Given the description of an element on the screen output the (x, y) to click on. 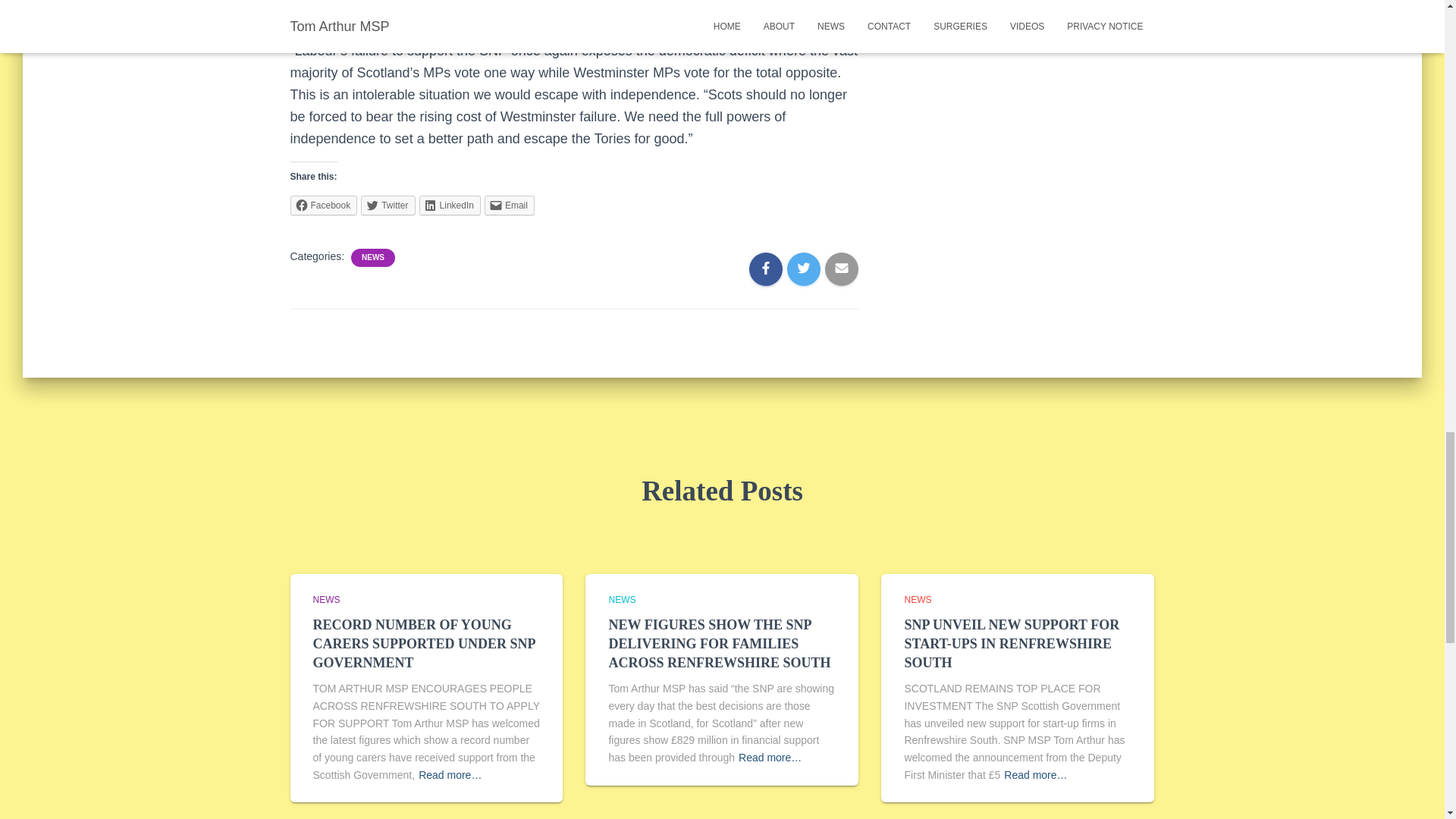
Click to email this to a friend (509, 205)
RECORD NUMBER OF YOUNG CARERS SUPPORTED UNDER SNP GOVERNMENT (423, 643)
NEWS (621, 599)
Click to share on Twitter (387, 205)
NEWS (372, 257)
View all posts in News (621, 599)
NEWS (326, 599)
Twitter (387, 205)
LinkedIn (449, 205)
